Given the description of an element on the screen output the (x, y) to click on. 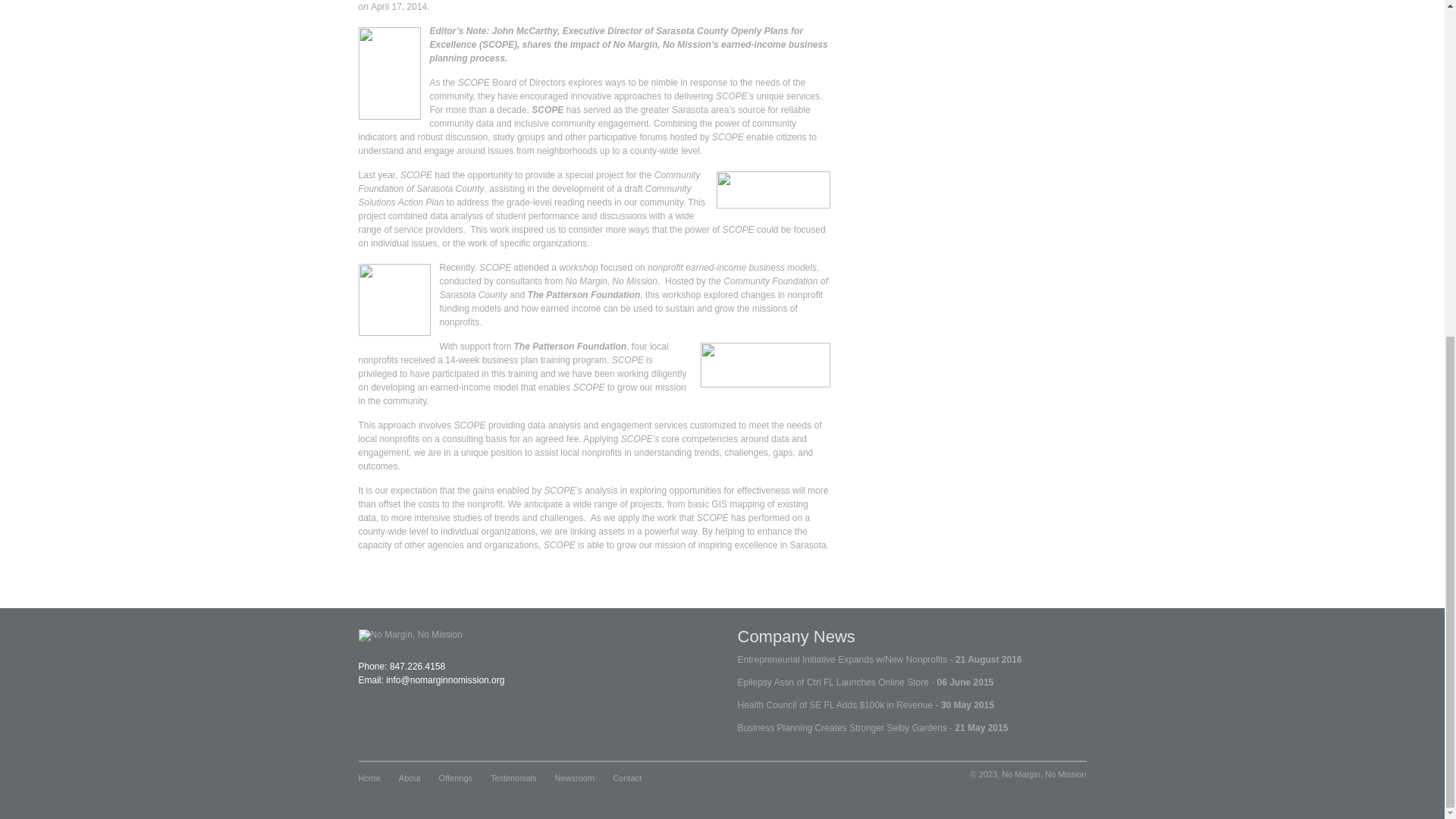
SCOPE (547, 109)
Community Foundation of Sarasota County (529, 181)
No Margin, No Mission (393, 299)
John McCarthy (524, 30)
No Margin, No Mission (612, 281)
workshop (577, 267)
grade-level reading needs (558, 202)
The Patterson Foundation (764, 365)
SCOPE Logo (772, 189)
